Given the description of an element on the screen output the (x, y) to click on. 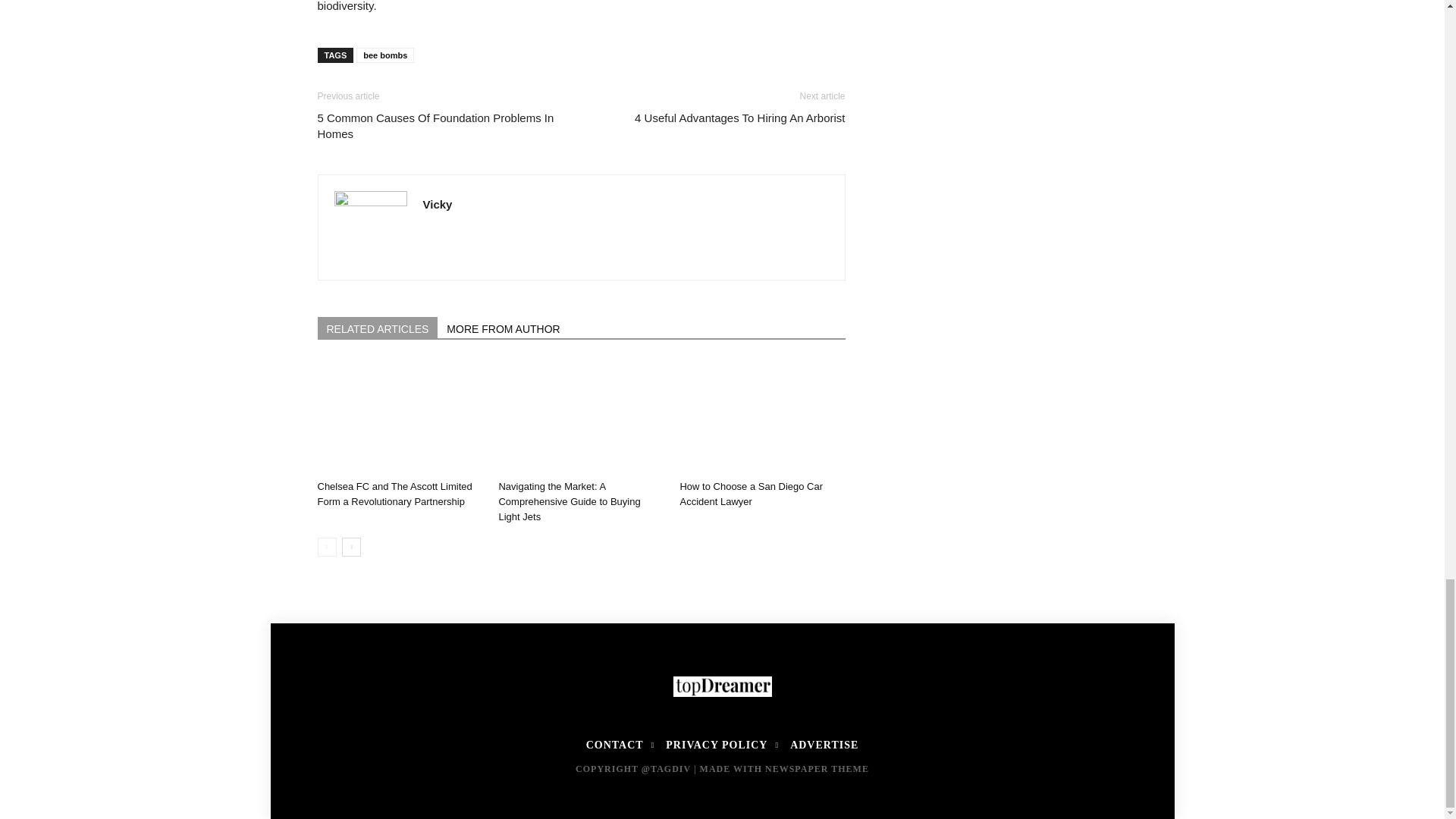
How to Choose a San Diego Car Accident Lawyer (761, 417)
How to Choose a San Diego Car Accident Lawyer (750, 493)
